Given the description of an element on the screen output the (x, y) to click on. 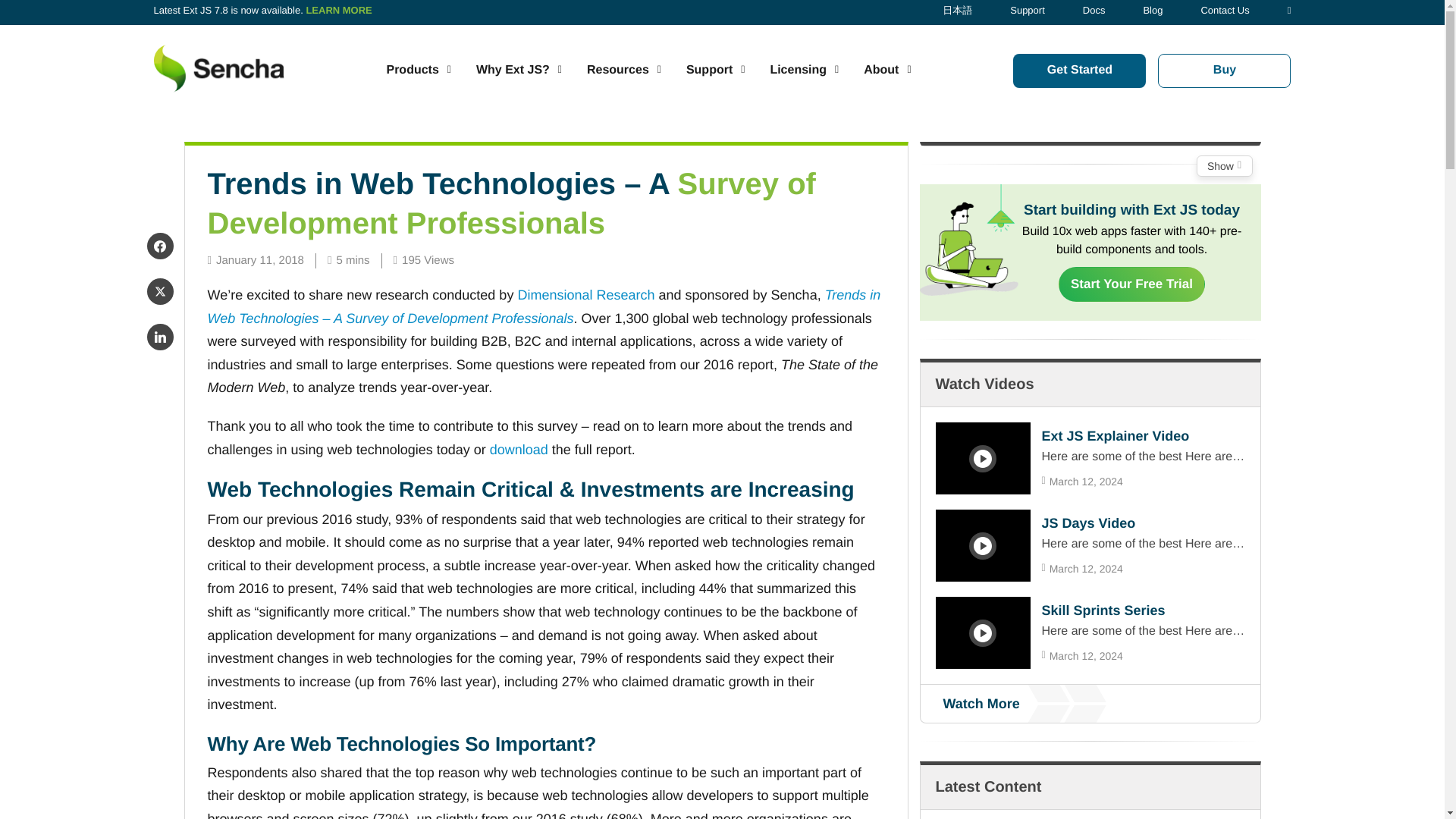
Contact Us (1224, 9)
Docs (1094, 9)
Share on Twitter (160, 291)
LEARN MORE (338, 9)
Blog (1151, 9)
Support (1027, 9)
Why Ext JS? (519, 70)
Share on LinkedIn (160, 336)
Share on Facebook (160, 245)
Products (417, 70)
